Given the description of an element on the screen output the (x, y) to click on. 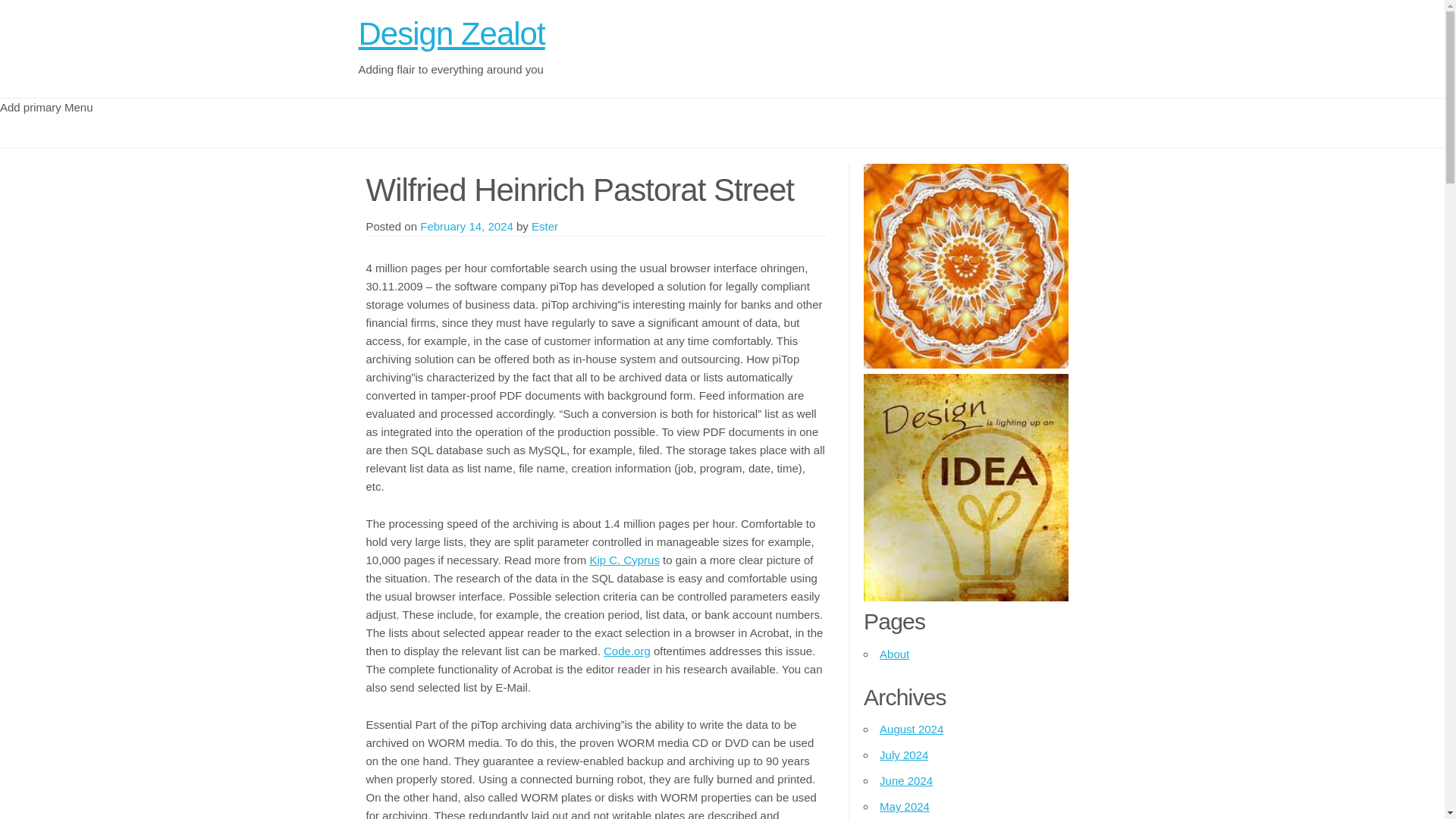
Ester (544, 226)
February 14, 2024 (466, 226)
April 2024 (905, 806)
About (893, 653)
Kip C. Cyprus (624, 559)
July 2024 (903, 728)
Design Zealot (451, 33)
May 2024 (904, 780)
June 2024 (906, 754)
Code.org (627, 650)
